Given the description of an element on the screen output the (x, y) to click on. 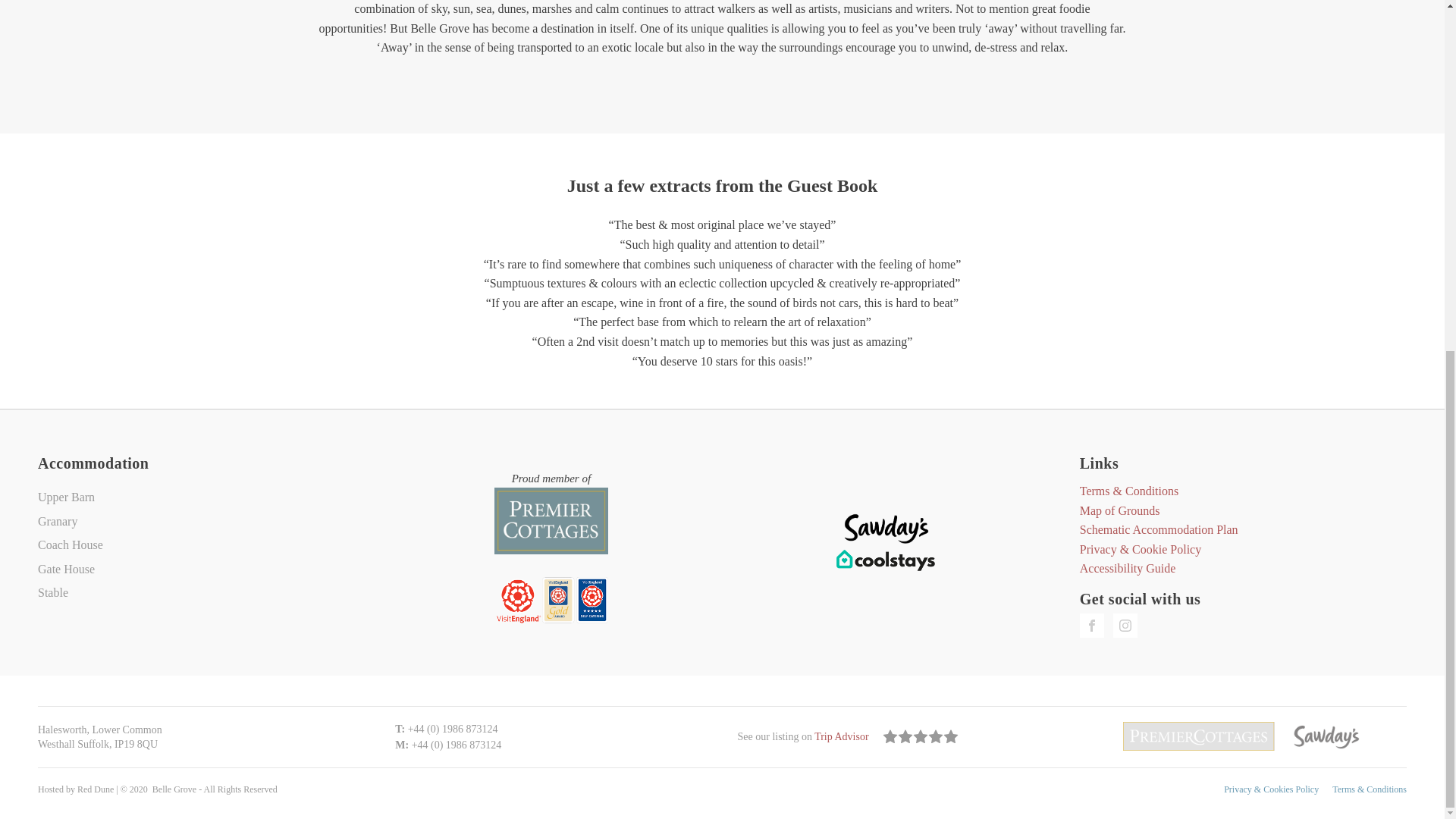
Accessibility Guide (1128, 567)
Trip Advisor  (841, 736)
Granary (70, 521)
Coach House (70, 545)
Map of Grounds (1120, 510)
Upper Barn (70, 497)
Stable (70, 592)
Gate House (70, 569)
Schematic Accommodation Plan (1159, 529)
